Given the description of an element on the screen output the (x, y) to click on. 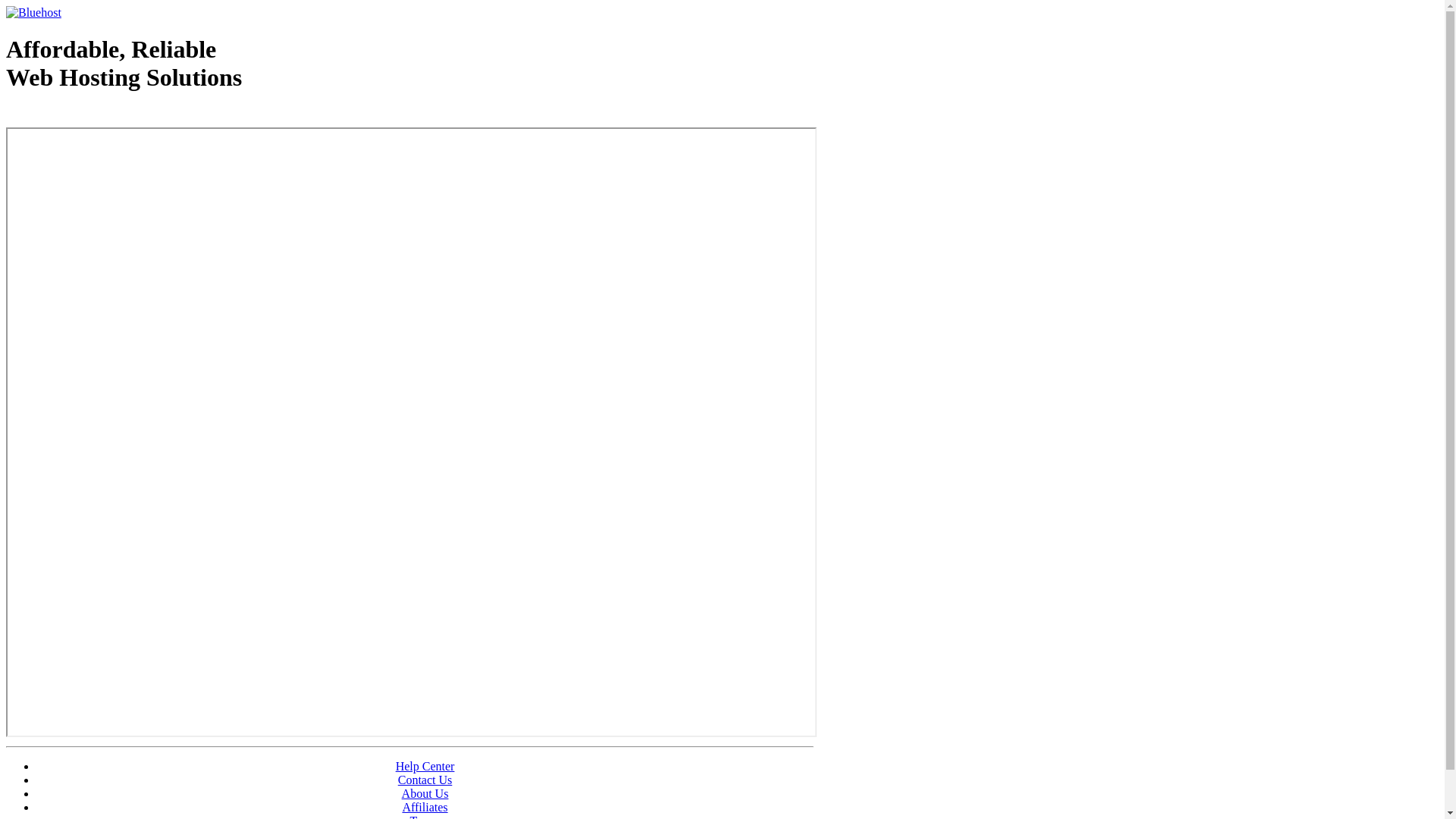
Help Center Element type: text (425, 765)
Affiliates Element type: text (424, 806)
Contact Us Element type: text (425, 779)
Web Hosting - courtesy of www.bluehost.com Element type: text (94, 115)
About Us Element type: text (424, 793)
